Given the description of an element on the screen output the (x, y) to click on. 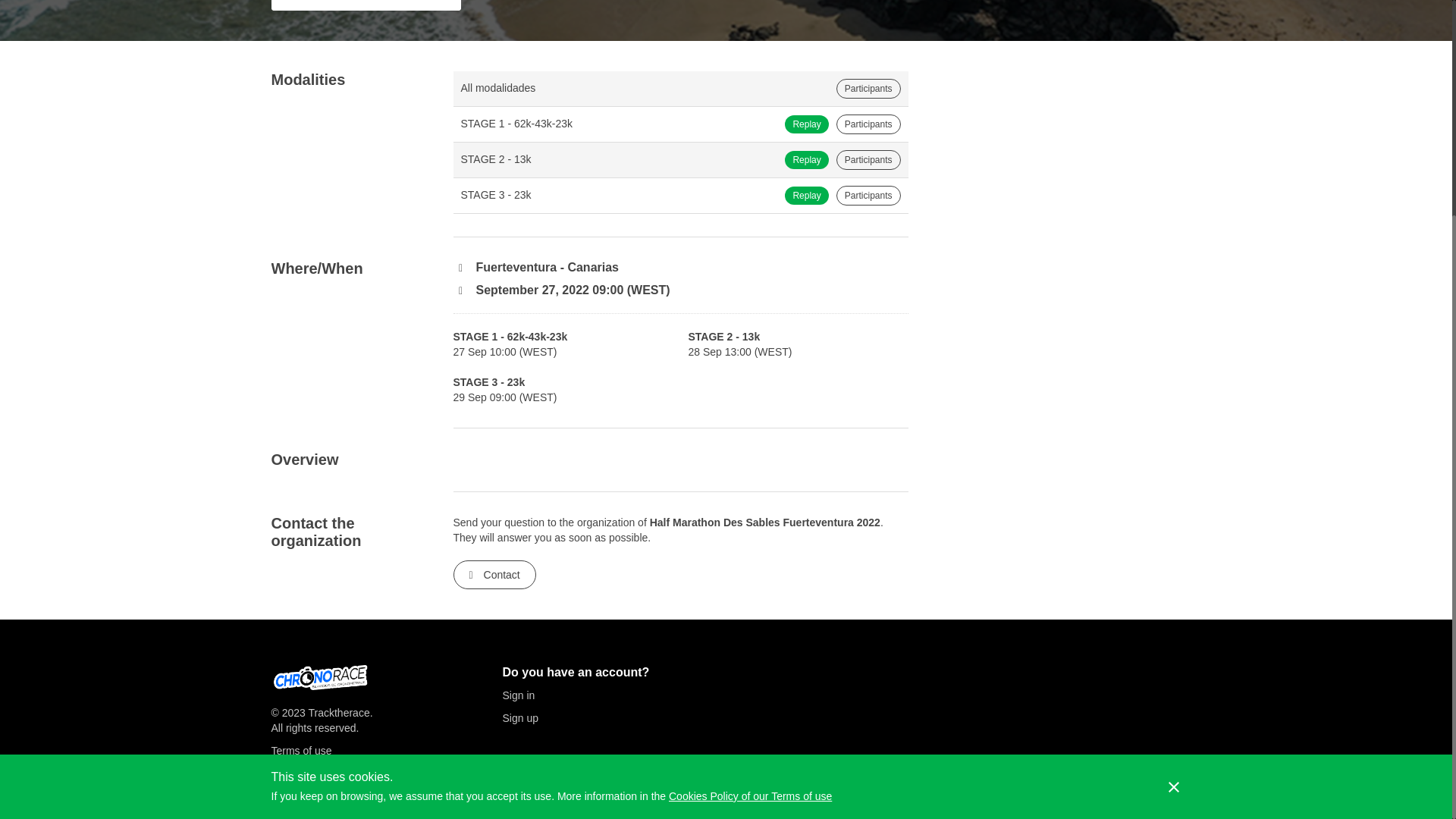
Replay (806, 159)
Sign up (609, 717)
Participants (868, 195)
Participants (868, 159)
Cookies Policy of our Terms of use (749, 503)
Participants (868, 124)
Replay (806, 124)
Contact (493, 574)
Replay (806, 195)
Tracktherace (338, 712)
